Given the description of an element on the screen output the (x, y) to click on. 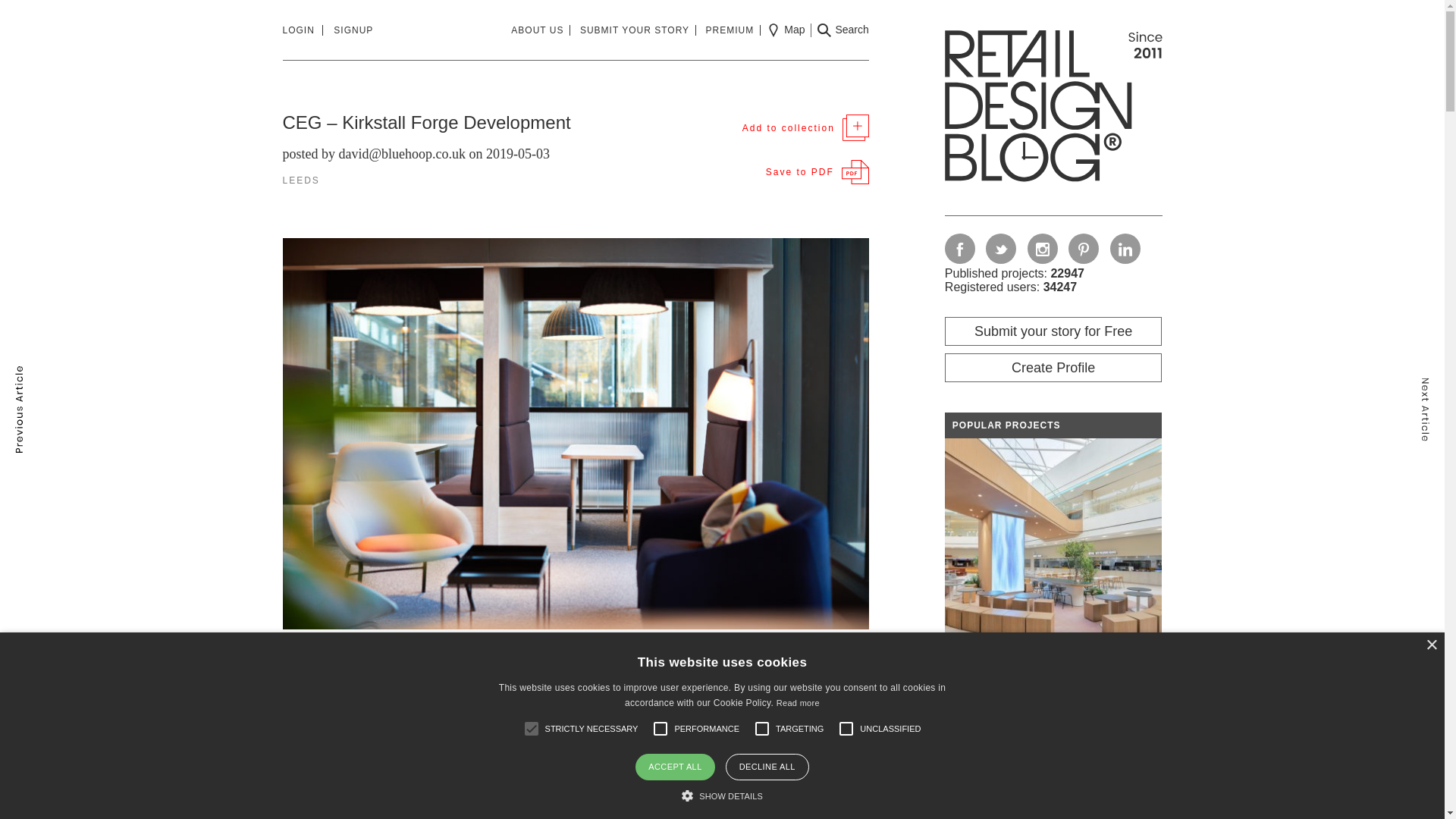
Search (841, 29)
ABOUT US (540, 30)
Map (786, 29)
PREMIUM (733, 30)
SUBMIT YOUR STORY (637, 30)
LOGIN (301, 30)
SIGNUP (352, 30)
Save this article to PDF (817, 171)
